Given the description of an element on the screen output the (x, y) to click on. 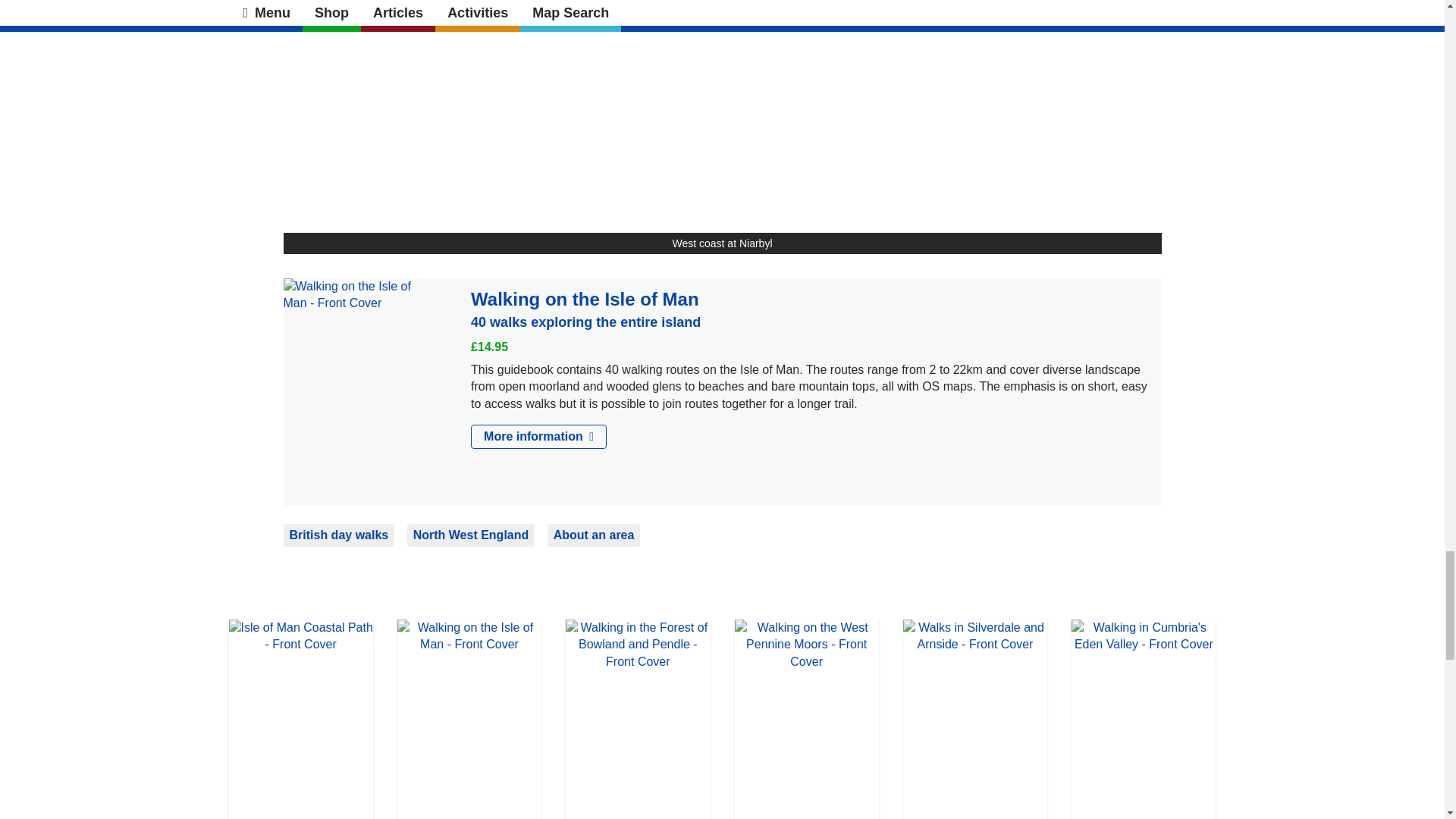
About an area (593, 535)
British day walks (338, 535)
North West England (471, 535)
More information (538, 436)
